Given the description of an element on the screen output the (x, y) to click on. 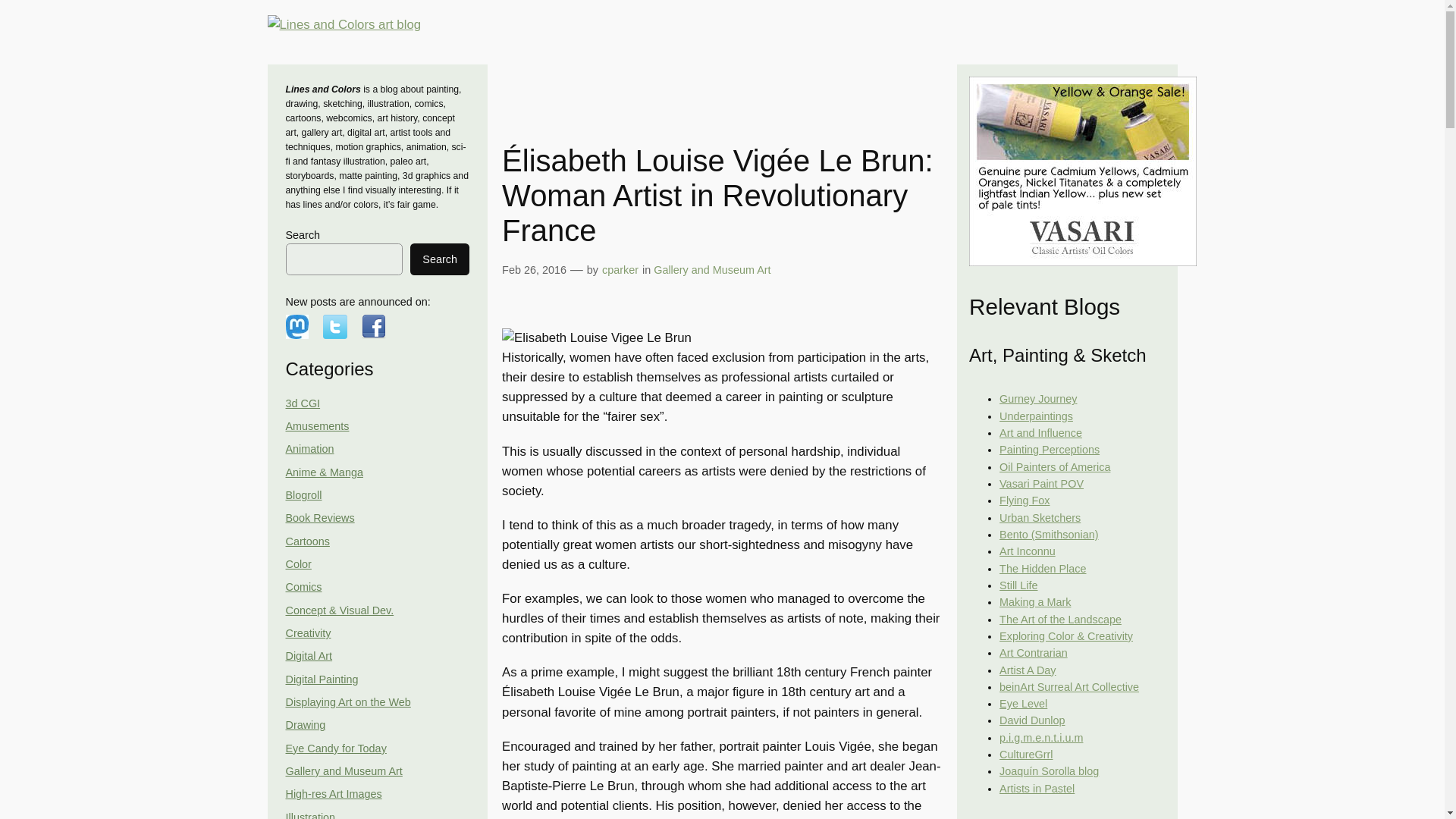
Digital Art (308, 655)
Illustration (309, 815)
Cartoons (307, 541)
High-res Art Images (333, 793)
Creativity (307, 633)
3d CGI (302, 403)
Displaying Art on the Web (347, 702)
Color (298, 563)
Search (439, 259)
Amusements (317, 426)
Digital Painting (321, 679)
Book Reviews (319, 517)
Comics (303, 586)
Gallery and Museum Art (343, 770)
Drawing (304, 725)
